Given the description of an element on the screen output the (x, y) to click on. 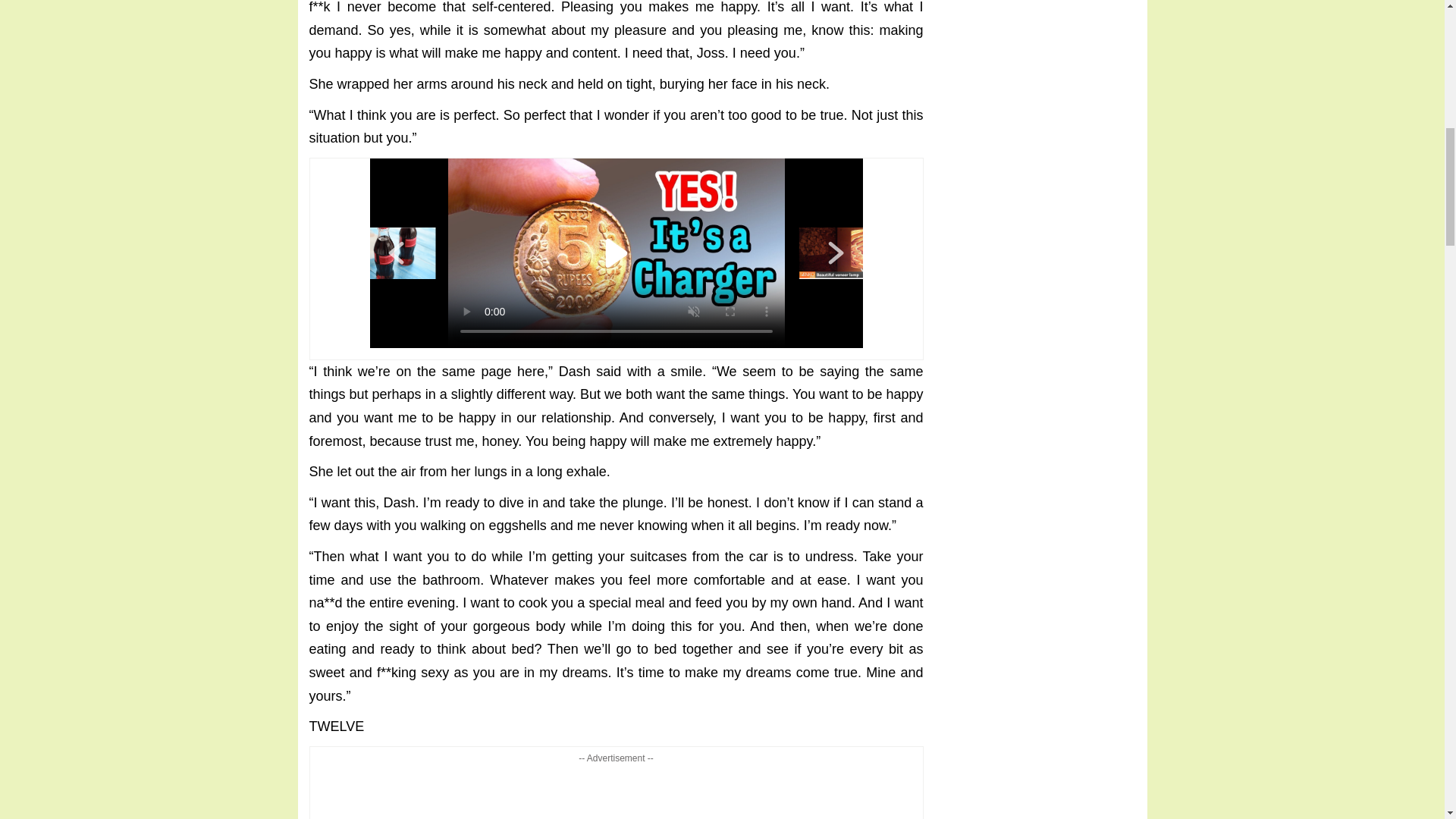
Next (836, 253)
Previous (396, 253)
